Given the description of an element on the screen output the (x, y) to click on. 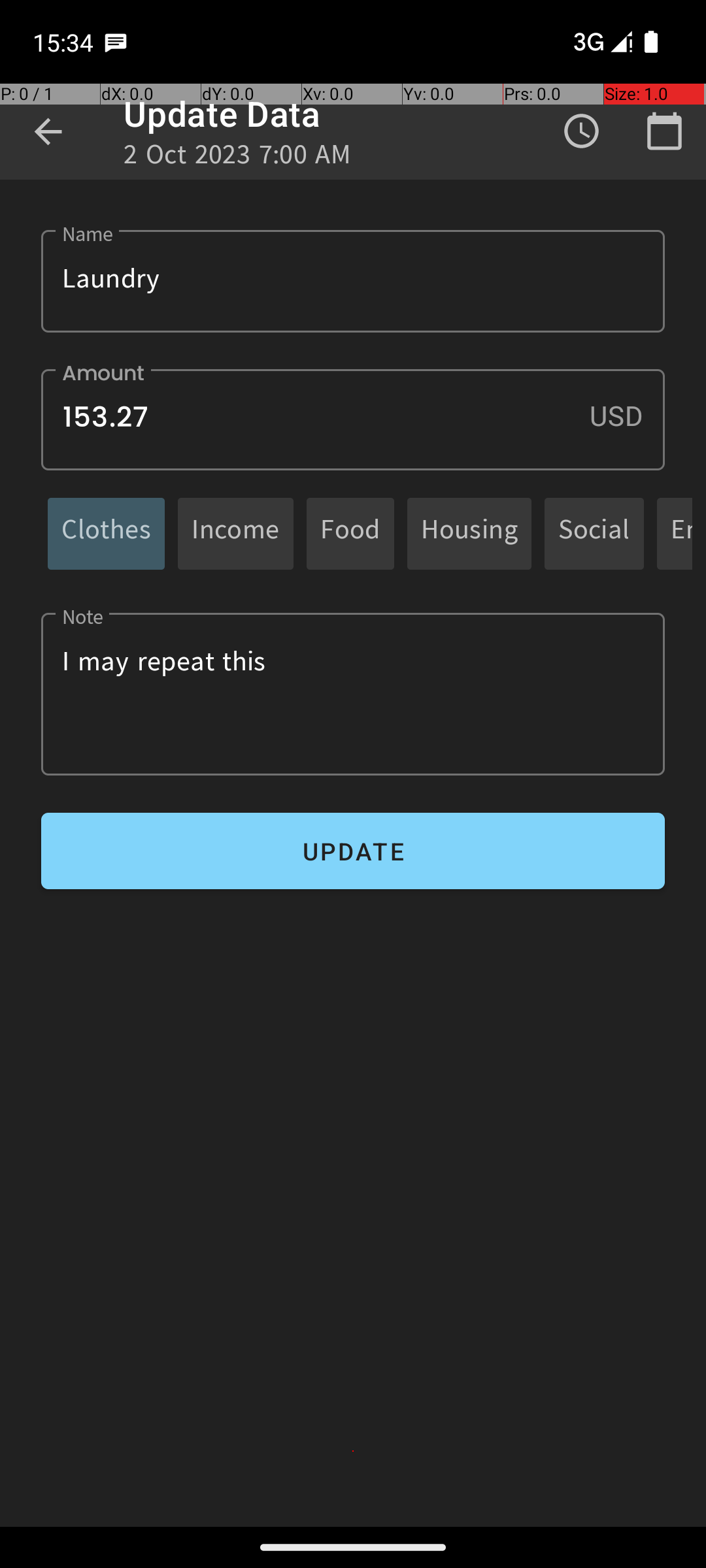
2 Oct 2023 7:00 AM Element type: android.widget.TextView (237, 157)
Laundry Element type: android.widget.EditText (352, 280)
153.27 Element type: android.widget.EditText (352, 419)
Clothes Element type: android.widget.TextView (106, 533)
